Given the description of an element on the screen output the (x, y) to click on. 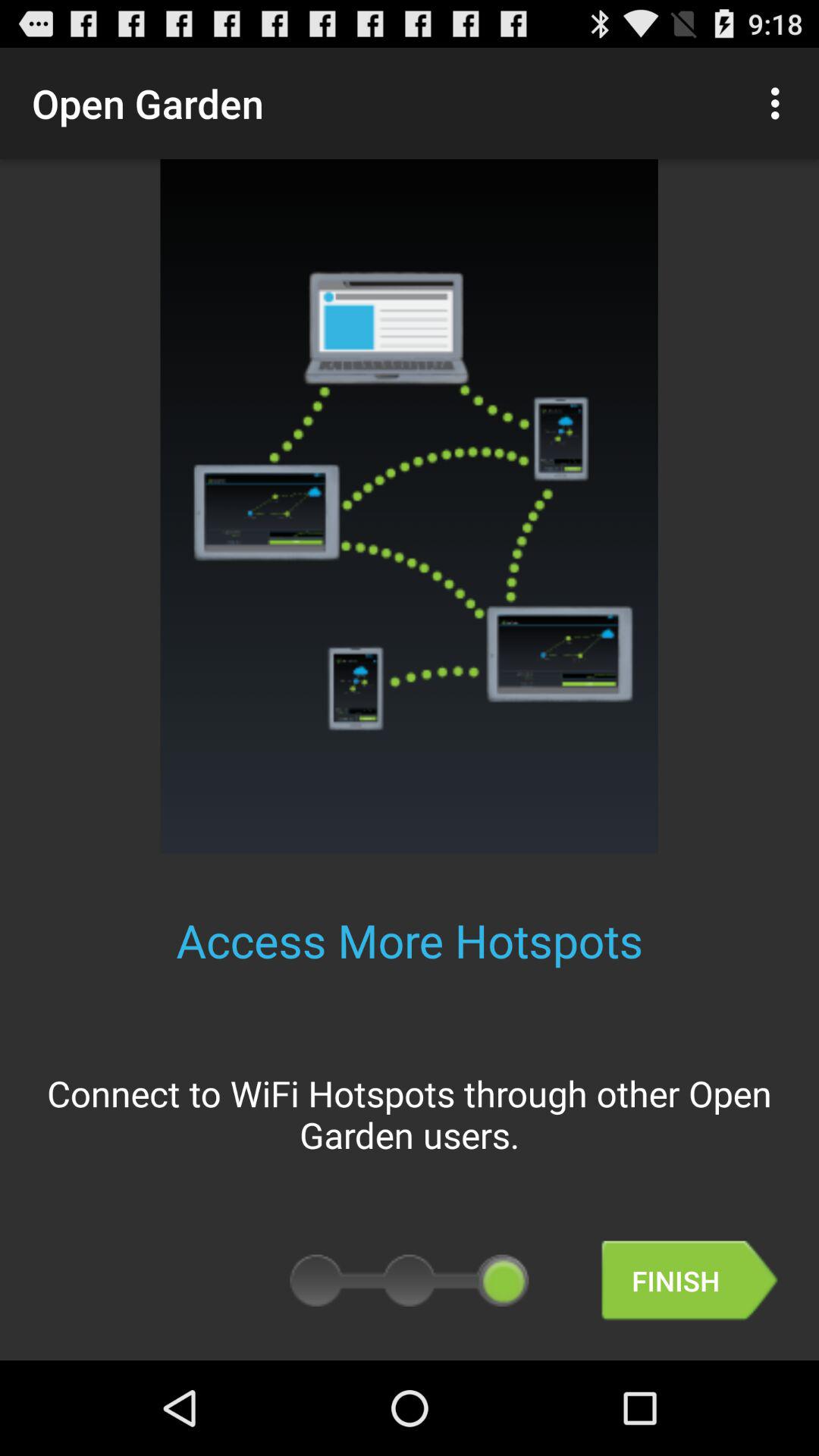
swipe to finish button (689, 1280)
